Given the description of an element on the screen output the (x, y) to click on. 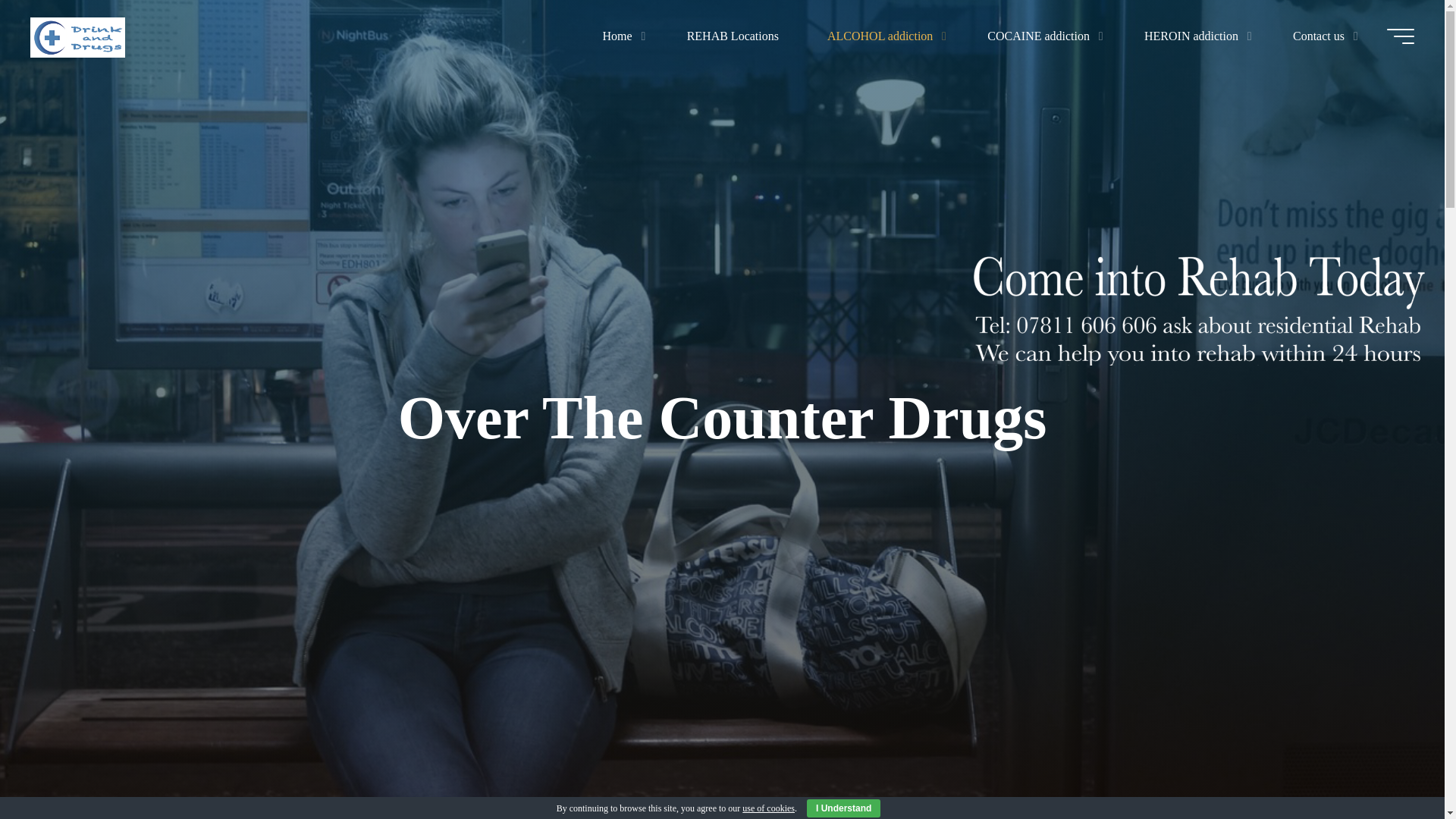
Drug and alcohol helpline (77, 35)
Read more (721, 724)
